Given the description of an element on the screen output the (x, y) to click on. 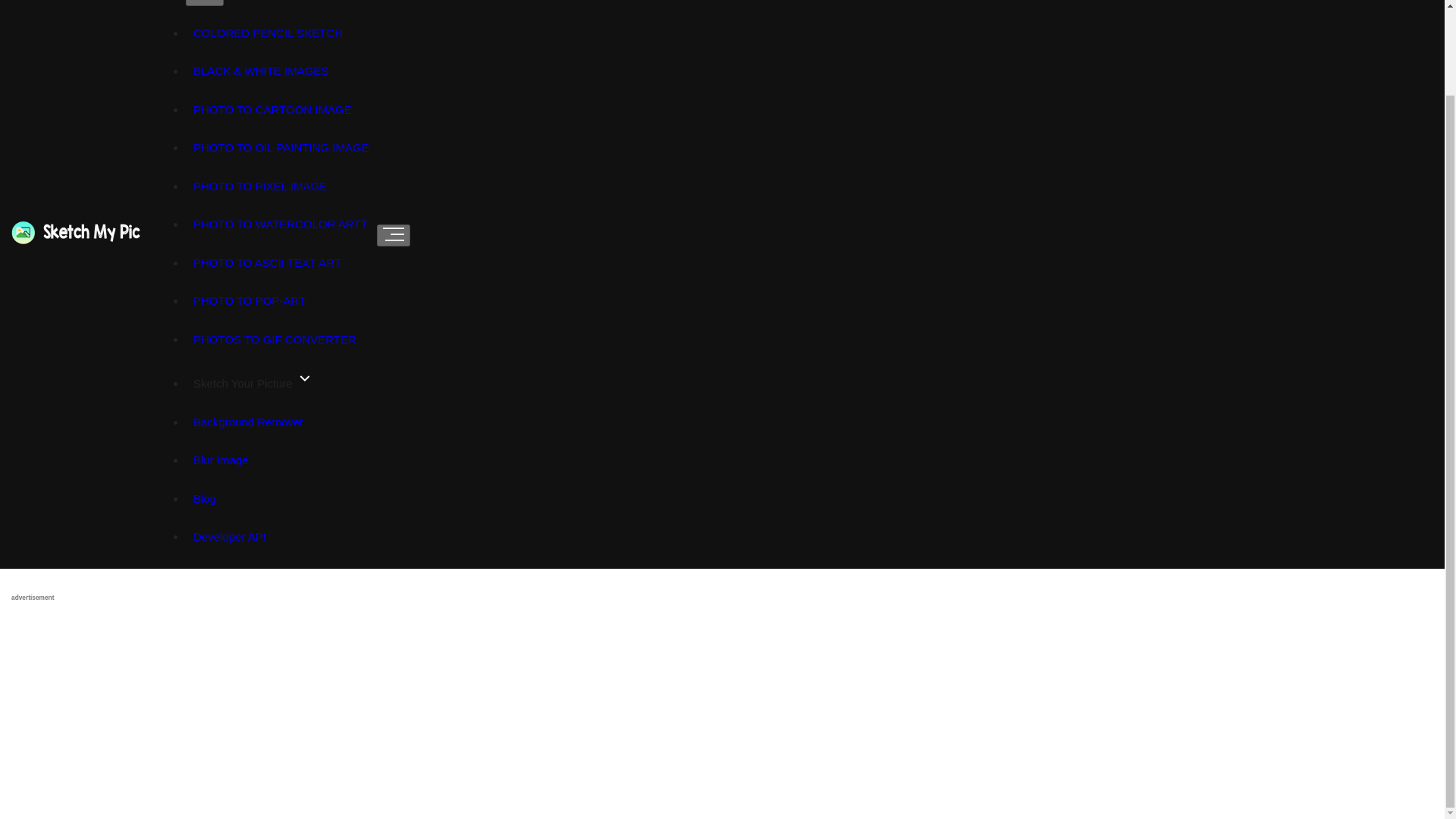
COLORED PENCIL SKETCH (268, 32)
PHOTO TO PIXEL IMAGE (260, 186)
PHOTO TO OIL PAINTING IMAGE (281, 147)
PHOTO TO POP-ART (249, 301)
Sketch Your Picture (253, 380)
Developer API (229, 536)
PHOTO TO CARTOON IMAGE (272, 109)
Background Remover (248, 422)
Blog (205, 498)
PHOTOS TO GIF CONVERTER (275, 339)
PHOTO TO ASCII TEXT ART (267, 263)
PHOTO TO WATERCOLOR ARTT (280, 224)
Blur Image (221, 460)
